Given the description of an element on the screen output the (x, y) to click on. 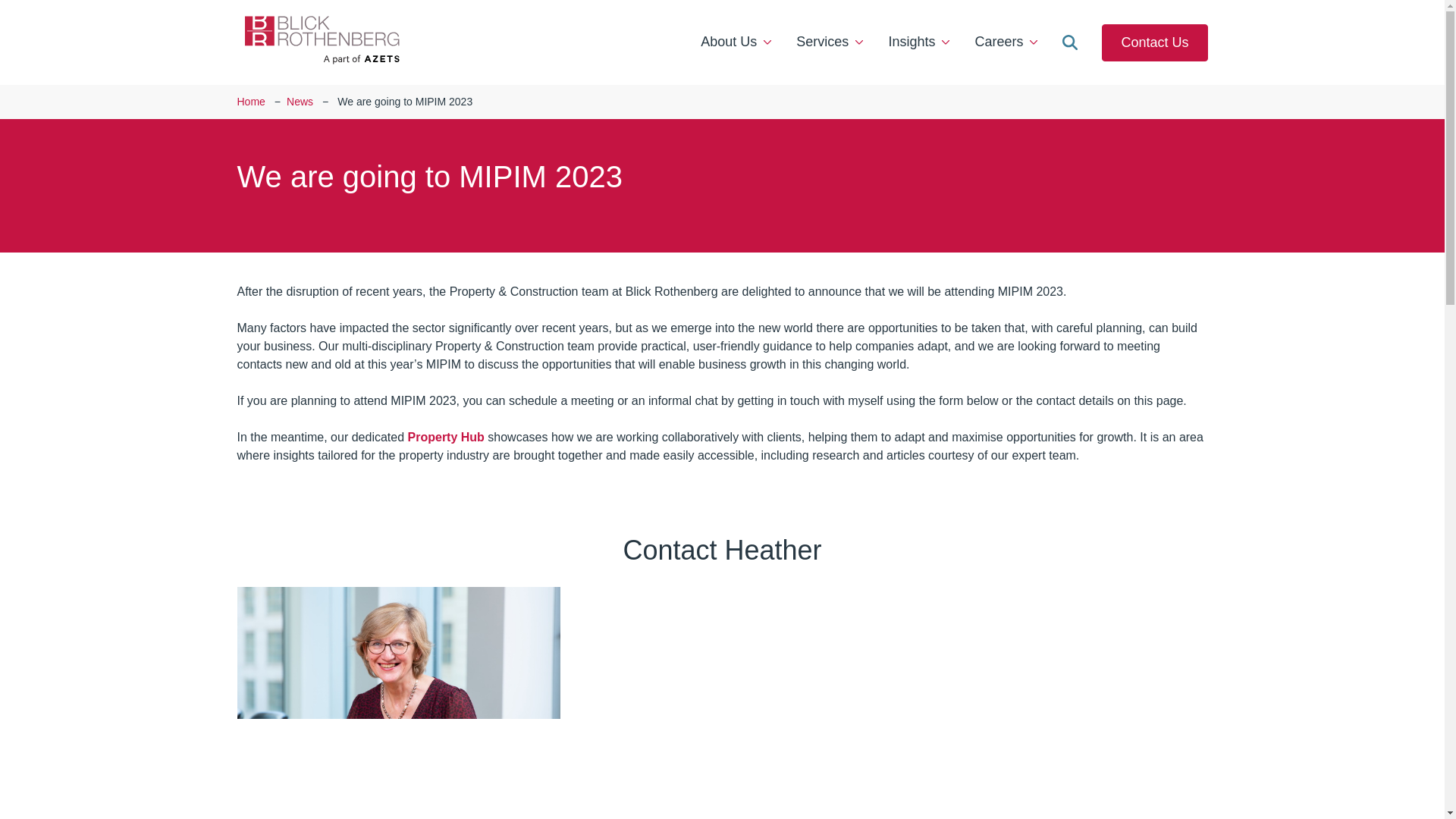
About Us (735, 42)
Services (829, 42)
Home Link Logo (320, 41)
